Given the description of an element on the screen output the (x, y) to click on. 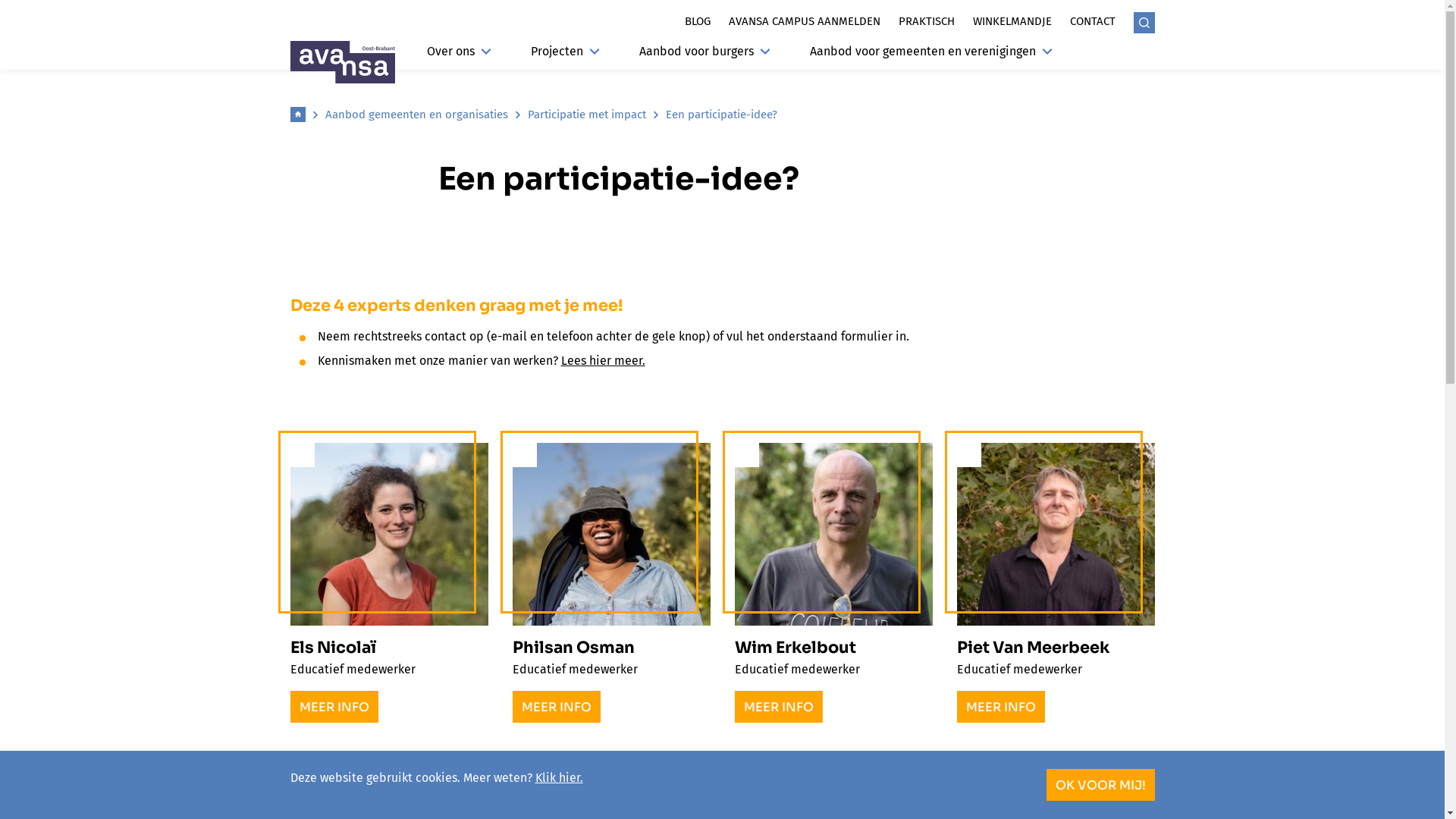
Klik hier. Element type: text (559, 777)
AVANSA CAMPUS AANMELDEN Element type: text (803, 21)
WINKELMANDJE Element type: text (1011, 21)
Aanbod gemeenten en organisaties Element type: text (415, 114)
Aanbod voor burgers Element type: text (703, 55)
Aanbod voor gemeenten en verenigingen Element type: text (930, 55)
BLOG Element type: text (696, 21)
Participatie met impact Element type: text (586, 114)
Lees hier meer. Element type: text (603, 360)
CONTACT Element type: text (1091, 21)
MEER INFO Element type: text (1000, 706)
MEER INFO Element type: text (333, 706)
Een participatie-idee? Element type: text (721, 114)
Projecten Element type: text (564, 55)
PRAKTISCH Element type: text (925, 21)
Over ons Element type: text (458, 55)
MEER INFO Element type: text (556, 706)
MEER INFO Element type: text (778, 706)
OK VOOR MIJ! Element type: text (1100, 784)
